Given the description of an element on the screen output the (x, y) to click on. 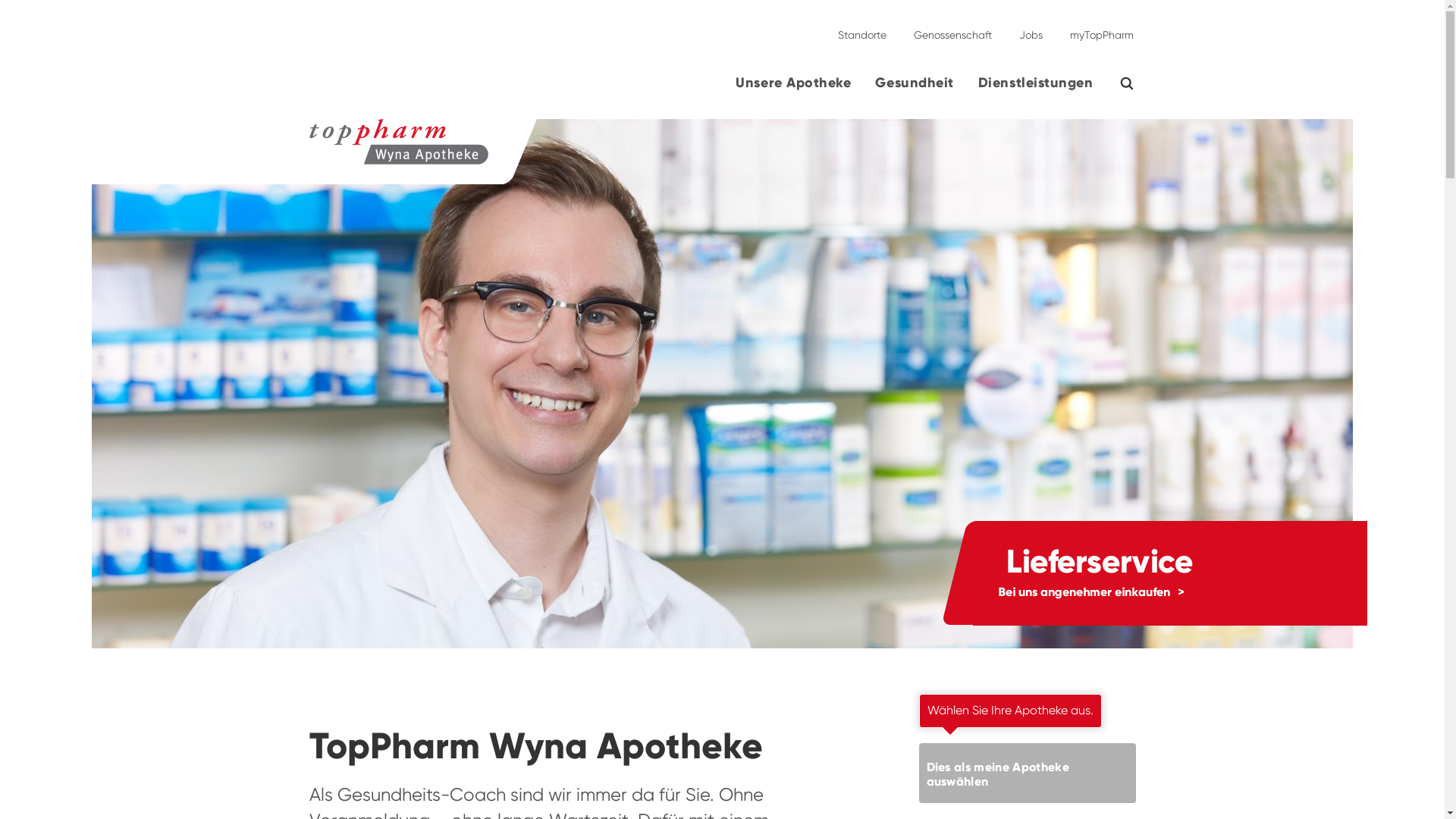
Jobs Element type: text (1030, 29)
TopPharm Wyna Apotheke - Unterkulm Element type: text (245, 151)
Suche Element type: text (1135, 82)
TopPharm Wyna Apotheke - Unterkulm Element type: hover (399, 141)
myTopPharm Element type: text (1096, 29)
Gesundheit Element type: text (913, 88)
Standorte Element type: text (861, 29)
Lieferservice
Bei uns angenehmer einkaufen> Element type: text (721, 383)
Unsere Apotheke Element type: text (792, 88)
Genossenschaft Element type: text (951, 29)
Dienstleistungen Element type: text (1035, 88)
